Given the description of an element on the screen output the (x, y) to click on. 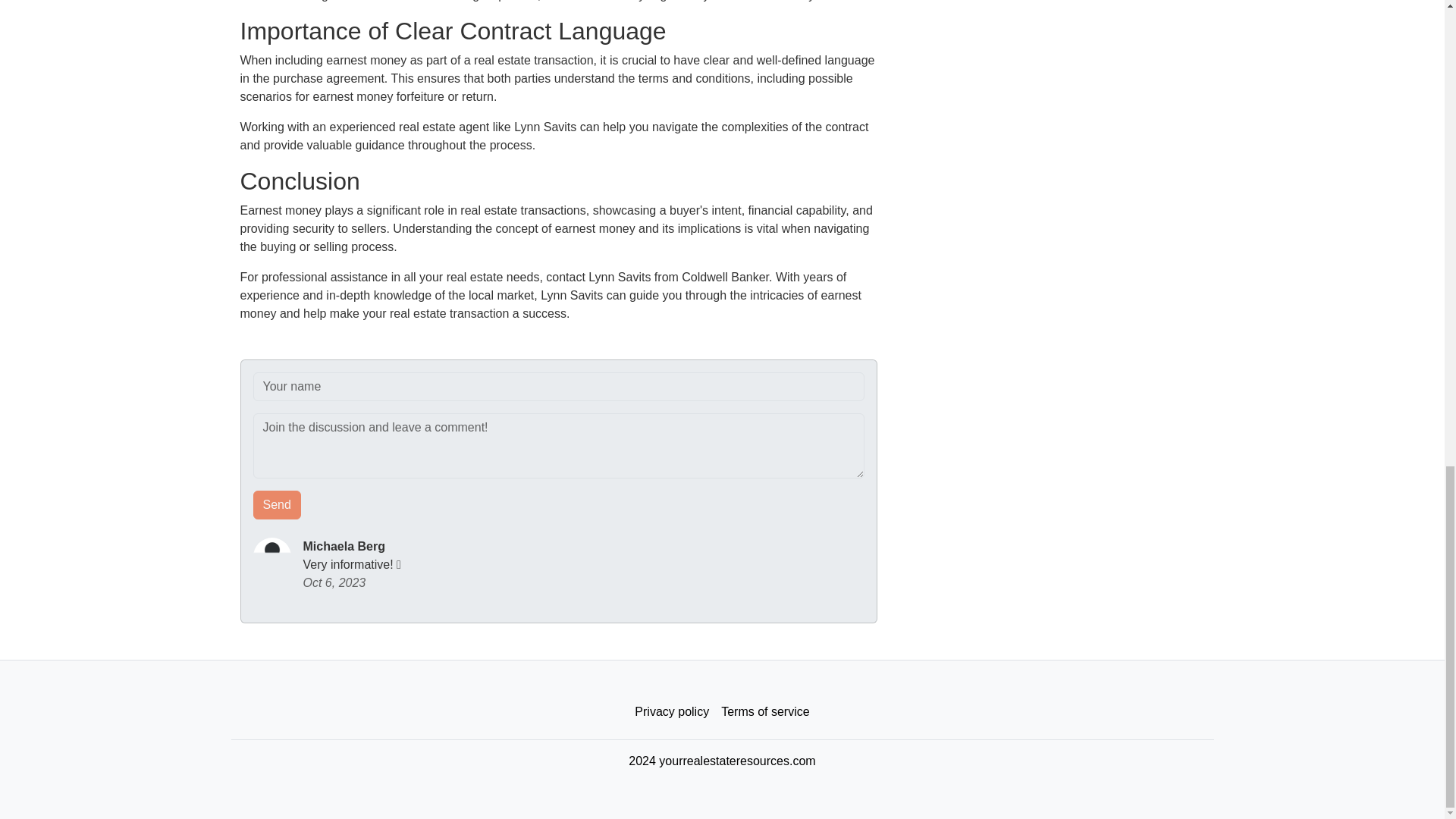
Send (277, 504)
Send (277, 504)
Privacy policy (671, 711)
Terms of service (764, 711)
